Given the description of an element on the screen output the (x, y) to click on. 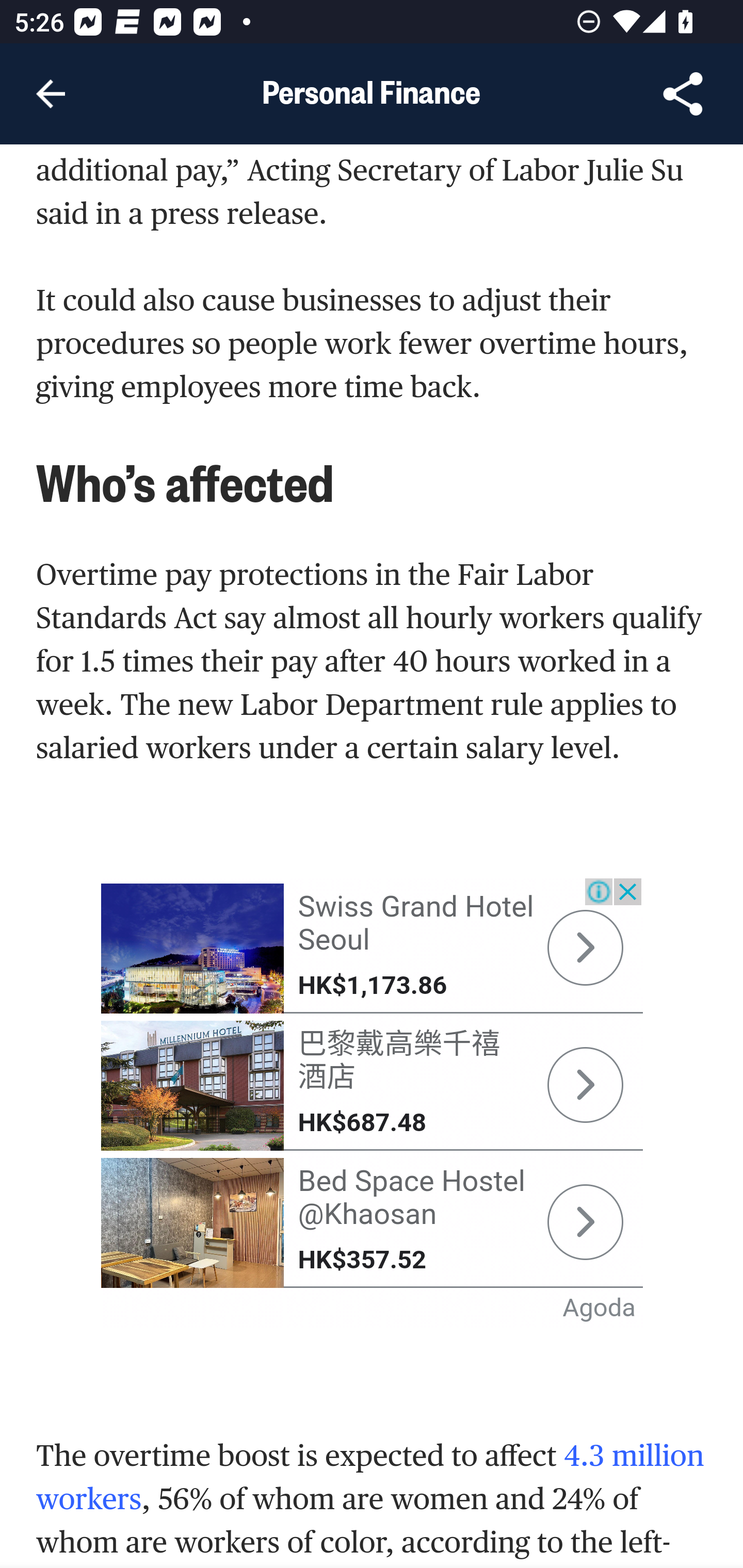
Navigate up (50, 93)
Share Article, button (683, 94)
partnersearch (193, 948)
Swiss Grand Hotel Seoul Swiss Grand Hotel Seoul (415, 923)
partnersearch (584, 948)
HK$1,173.86 (372, 985)
partnersearch (193, 1085)
巴黎戴高樂千禧 酒店 巴黎戴高樂千禧 酒店 (399, 1061)
partnersearch (584, 1085)
HK$687.48 (361, 1122)
partnersearch (193, 1222)
partnersearch (584, 1222)
HK$357.52 (361, 1259)
Agoda (599, 1308)
4.3 million workers (370, 1477)
